Given the description of an element on the screen output the (x, y) to click on. 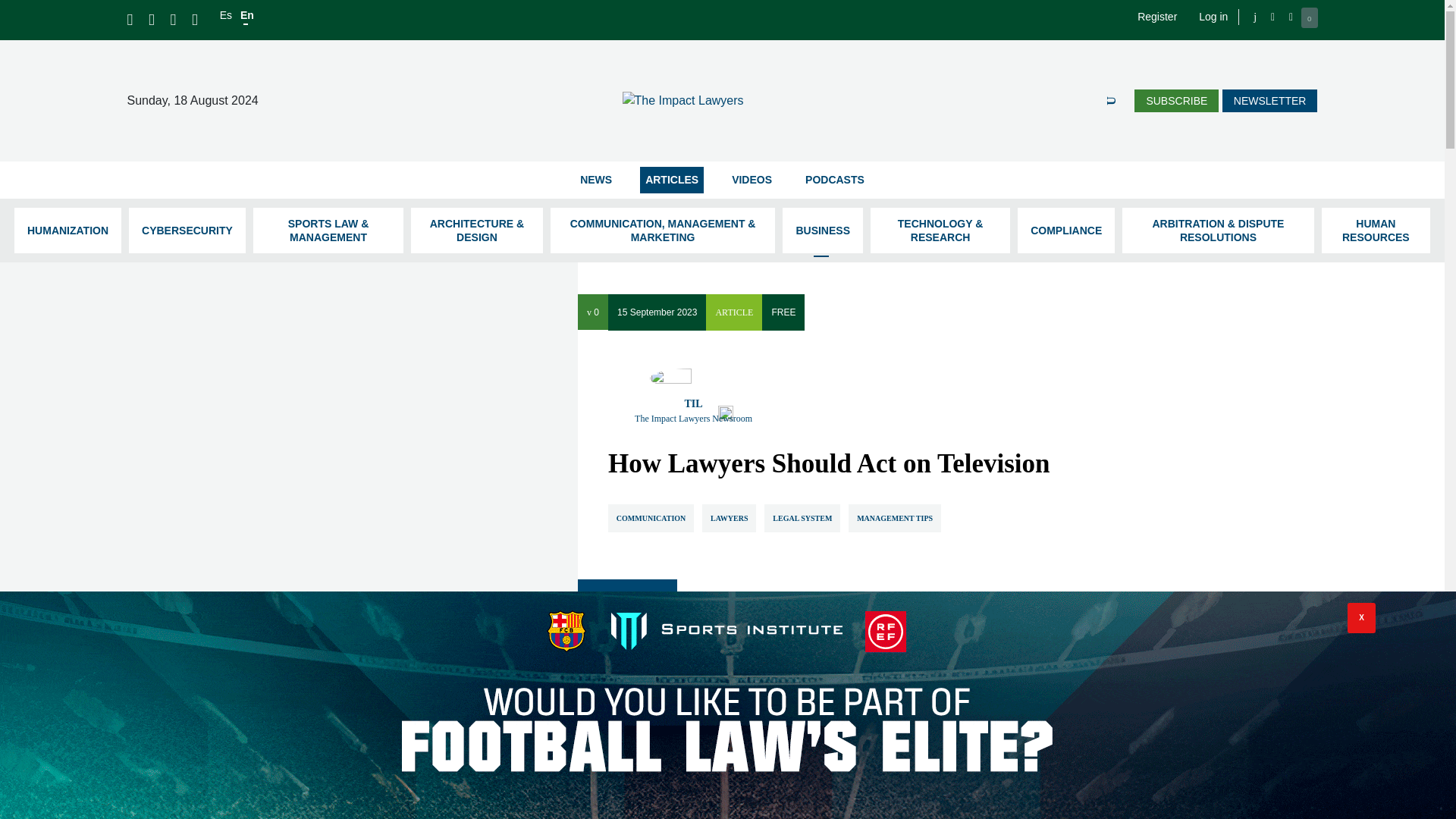
1 (1070, 794)
CYBERSECURITY (187, 230)
1 (938, 794)
VIDEOS (751, 180)
Register (1156, 16)
SUBSCRIBE (1176, 100)
NEWS (596, 180)
PODCASTS (834, 180)
HUMANIZATION (67, 230)
BUSINESS (823, 230)
